Given the description of an element on the screen output the (x, y) to click on. 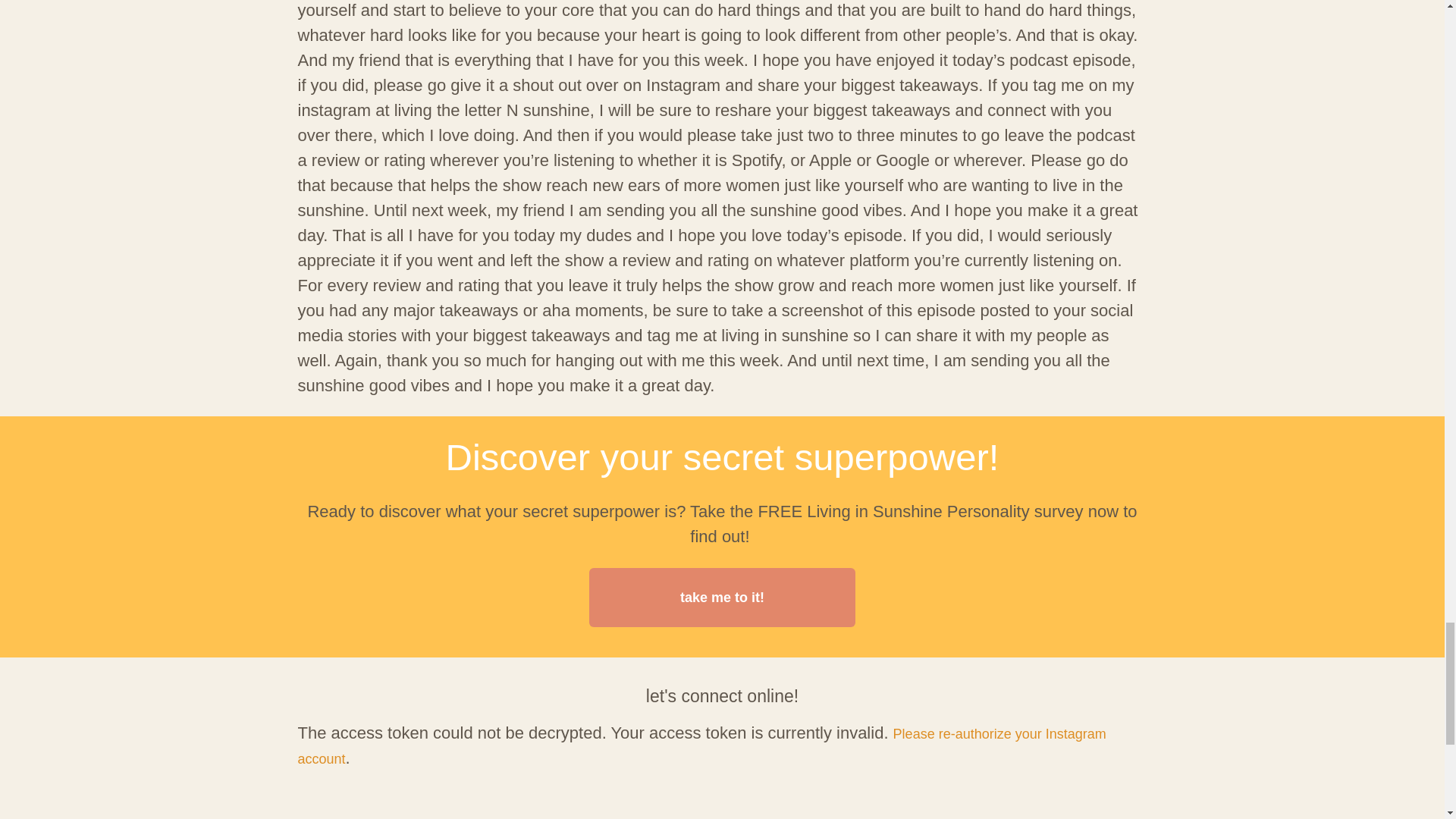
Please re-authorize your Instagram account (701, 746)
take me to it! (722, 597)
